Given the description of an element on the screen output the (x, y) to click on. 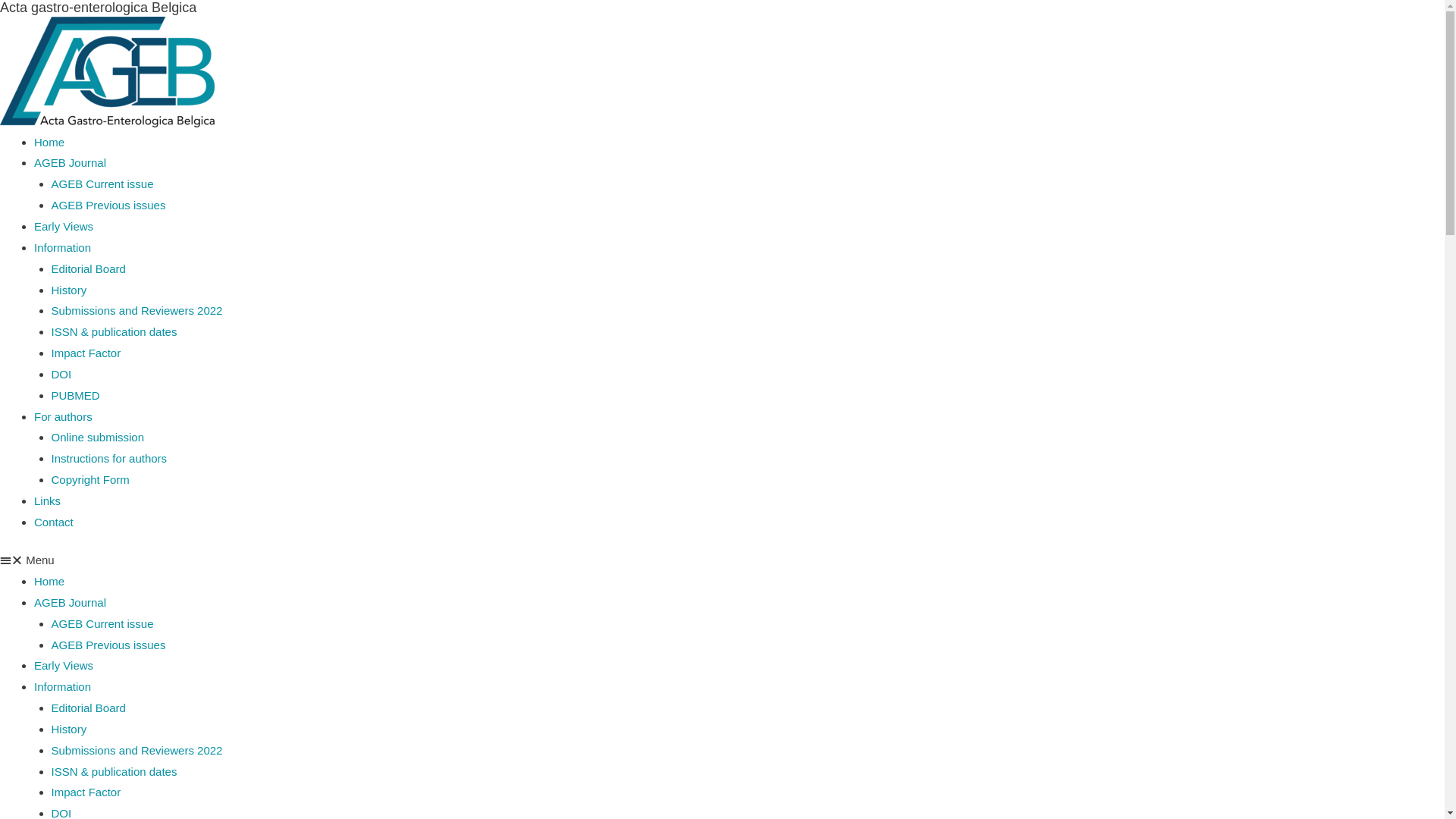
Home Element type: text (49, 141)
Early Views Element type: text (63, 225)
Information Element type: text (62, 247)
AGEB Current issue Element type: text (102, 623)
ISSN & publication dates Element type: text (114, 771)
For authors Element type: text (63, 416)
AGEB Previous issues Element type: text (108, 204)
History Element type: text (69, 728)
Early Views Element type: text (63, 664)
AGEB Journal Element type: text (70, 602)
Impact Factor Element type: text (86, 352)
PUBMED Element type: text (75, 395)
Links Element type: text (47, 500)
Home Element type: text (49, 580)
Editorial Board Element type: text (88, 707)
AGEB Previous issues Element type: text (108, 644)
Contact Element type: text (53, 521)
History Element type: text (69, 289)
Information Element type: text (62, 686)
AGEB Current issue Element type: text (102, 183)
Instructions for authors Element type: text (109, 457)
Copyright Form Element type: text (90, 479)
Submissions and Reviewers 2022 Element type: text (136, 749)
ISSN & publication dates Element type: text (114, 331)
Editorial Board Element type: text (88, 268)
DOI Element type: text (61, 373)
Submissions and Reviewers 2022 Element type: text (136, 310)
Online submission Element type: text (97, 436)
Impact Factor Element type: text (86, 791)
AGEB Journal Element type: text (70, 162)
